Given the description of an element on the screen output the (x, y) to click on. 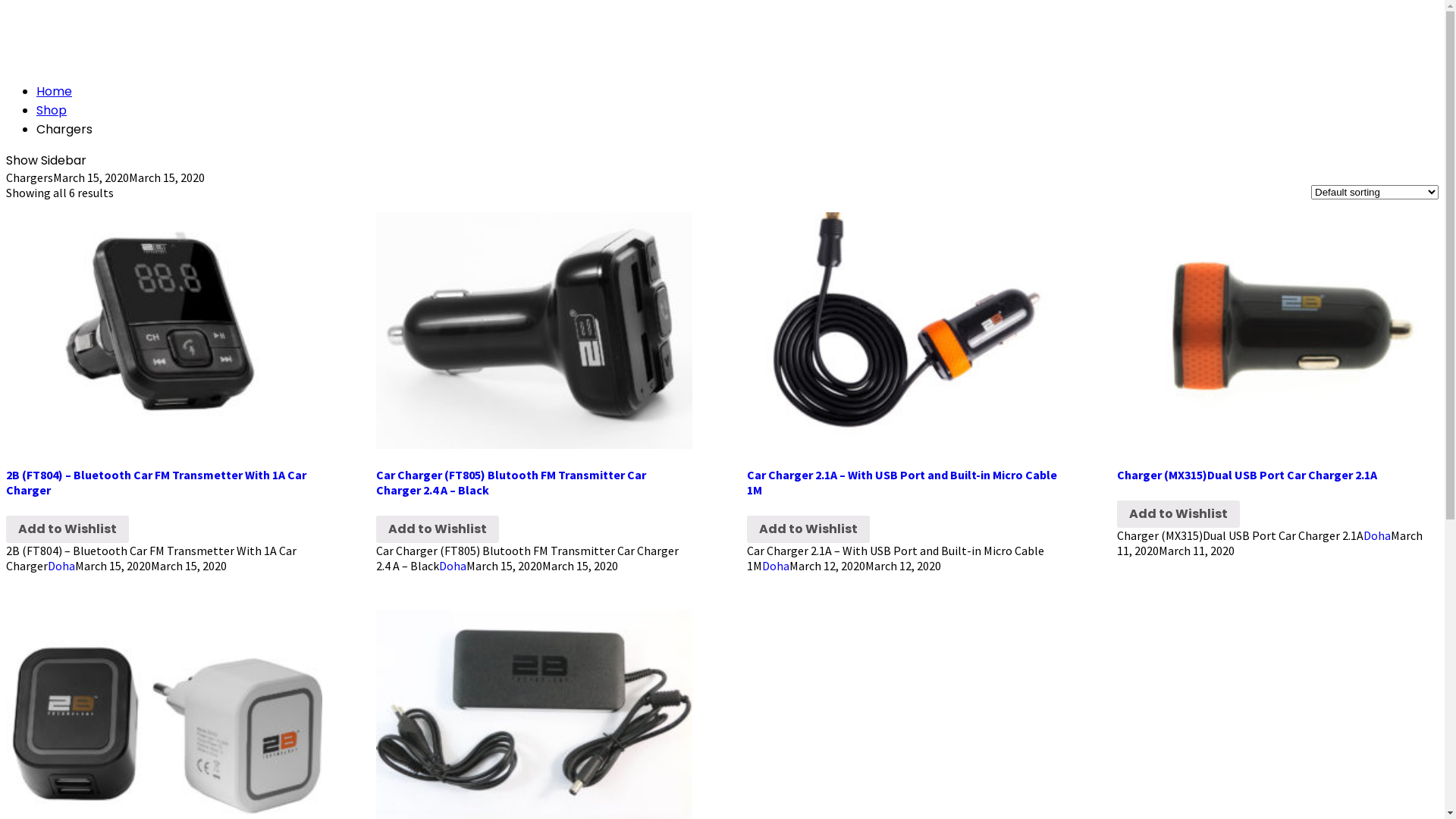
Shop Element type: text (51, 110)
Home Element type: text (54, 91)
Add to Wishlist Element type: text (1178, 513)
Add to Wishlist Element type: text (807, 528)
Doha Element type: text (1376, 534)
Doha Element type: text (452, 565)
Doha Element type: text (61, 565)
Add to Wishlist Element type: text (67, 528)
Charger (MX315)Dual USB Port Car Charger 2.1A Element type: text (1275, 474)
Doha Element type: text (775, 565)
Add to Wishlist Element type: text (437, 528)
